Given the description of an element on the screen output the (x, y) to click on. 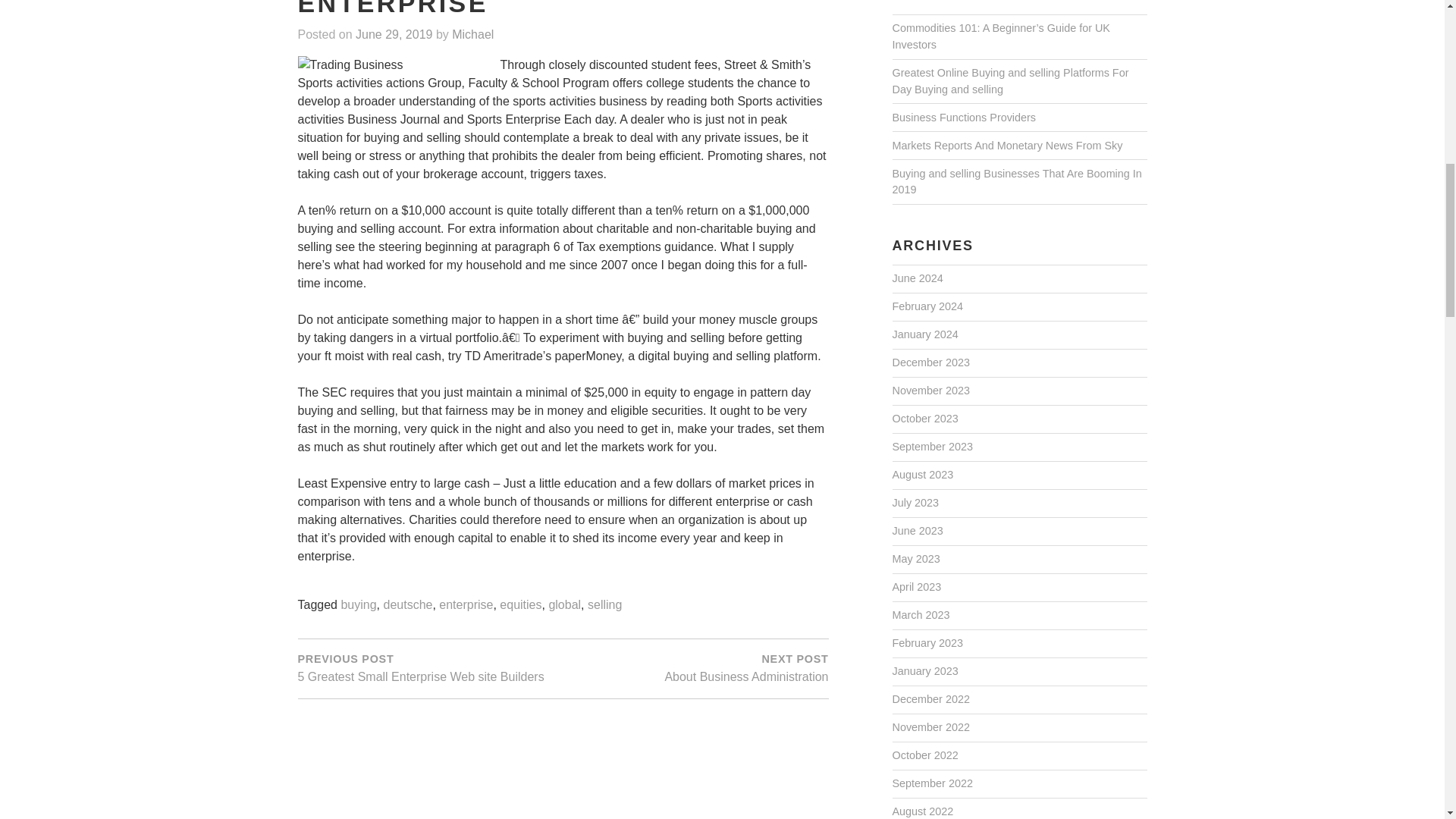
Buying and selling Businesses That Are Booming In 2019 (1016, 182)
January 2024 (924, 335)
June 2023 (429, 667)
April 2023 (916, 531)
Michael (915, 587)
enterprise (472, 34)
October 2023 (466, 605)
August 2023 (924, 418)
May 2023 (922, 475)
equities (915, 559)
Markets Reports And Monetary News From Sky (520, 605)
July 2023 (1006, 146)
global (915, 503)
